Given the description of an element on the screen output the (x, y) to click on. 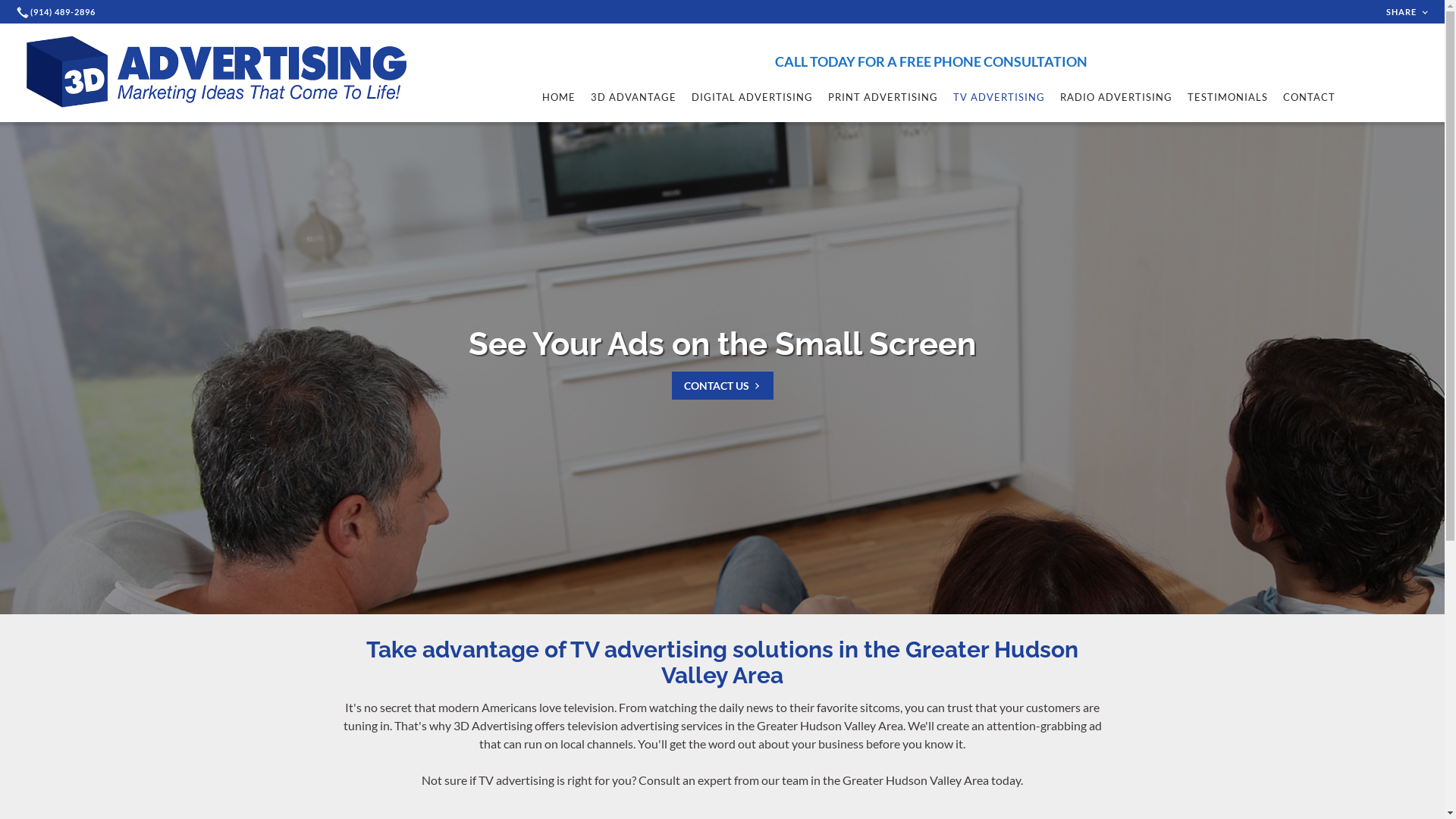
RADIO ADVERTISING Element type: text (1116, 96)
See Your Ads on the Small Screen Element type: text (721, 343)
CONTACT US Element type: text (722, 385)
PRINT ADVERTISING Element type: text (883, 96)
CALL TODAY FOR A FREE PHONE CONSULTATION Element type: text (938, 61)
DIGITAL ADVERTISING Element type: text (751, 96)
3D ADVANTAGE Element type: text (633, 96)
TESTIMONIALS Element type: text (1227, 96)
TV ADVERTISING Element type: text (998, 96)
HOME Element type: text (558, 96)
(914) 489-2896 Element type: hover (57, 11)
CONTACT Element type: text (1309, 96)
